Given the description of an element on the screen output the (x, y) to click on. 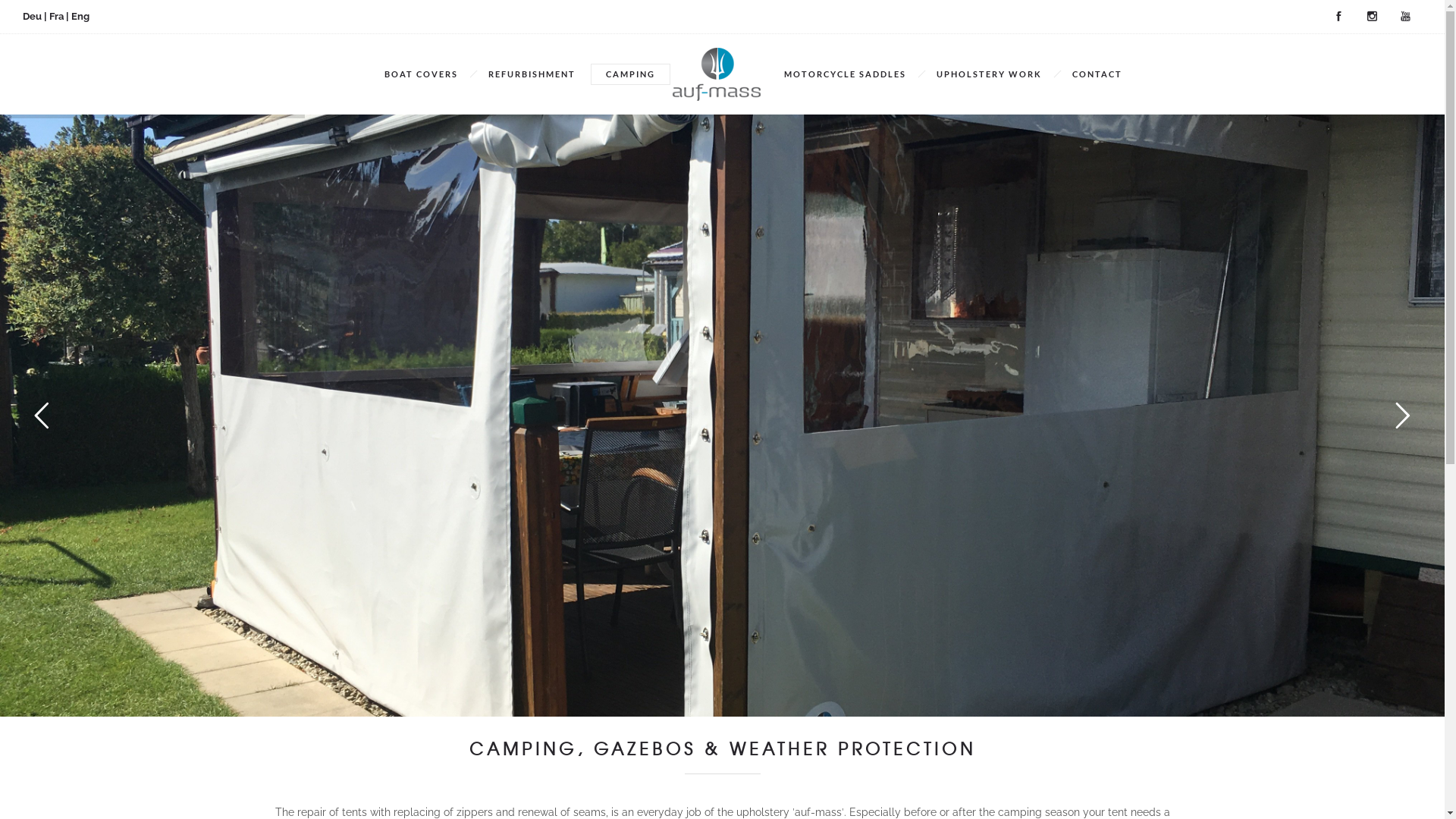
REFURBISHMENT Element type: text (531, 74)
Fra Element type: text (56, 15)
Eng Element type: text (80, 15)
Deu Element type: text (31, 15)
CONTACT Element type: text (1097, 74)
MOTORCYCLE SADDLES Element type: text (844, 74)
BOAT COVERS Element type: text (421, 74)
UPHOLSTERY WORK Element type: text (989, 74)
Facebook Element type: hover (1338, 16)
CAMPING Element type: text (630, 74)
YouTube Element type: hover (1404, 16)
Instagram Element type: hover (1371, 16)
